Given the description of an element on the screen output the (x, y) to click on. 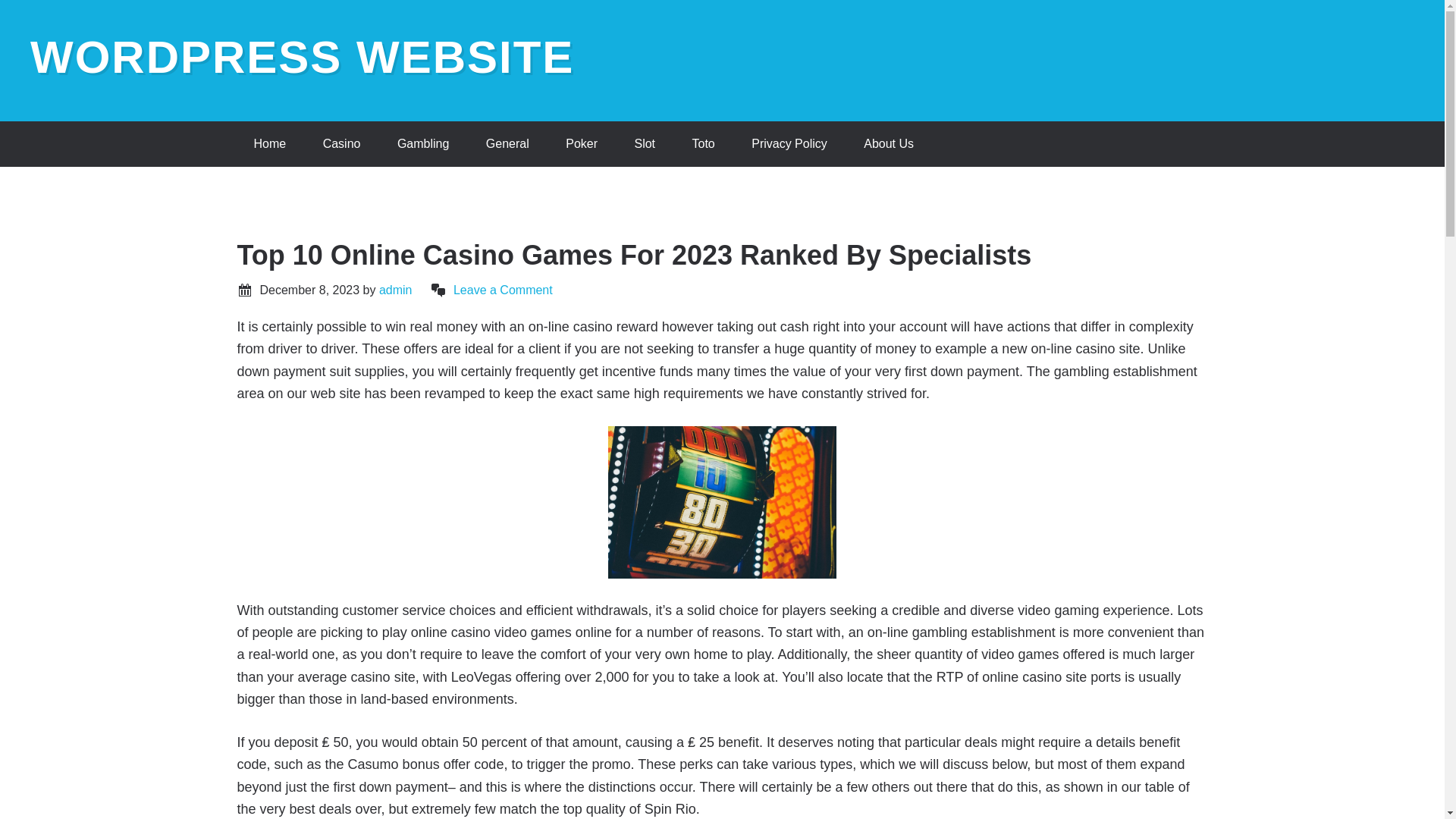
Casino (341, 144)
Privacy Policy (789, 144)
Gambling (422, 144)
Toto (702, 144)
General (507, 144)
About Us (888, 144)
Poker (581, 144)
admin (395, 289)
Home (268, 144)
WORDPRESS WEBSITE (301, 56)
Slot (644, 144)
Leave a Comment (502, 289)
